Given the description of an element on the screen output the (x, y) to click on. 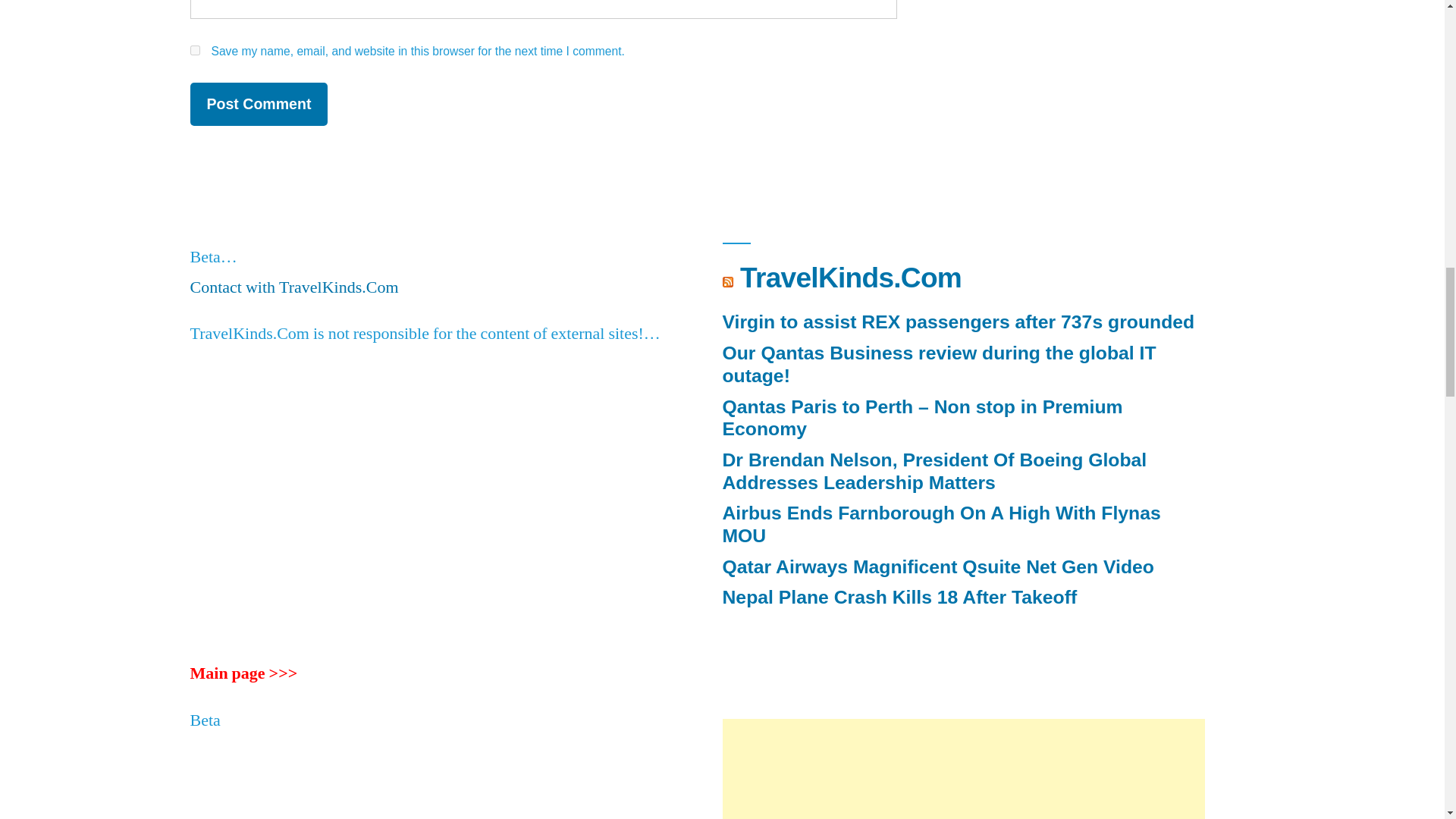
Post Comment (258, 104)
Nepal Plane Crash Kills 18 After Takeoff (899, 597)
Qatar Airways Magnificent Qsuite Net Gen Video (937, 566)
Airbus Ends Farnborough On A High With Flynas MOU (941, 524)
Post Comment (258, 104)
Contact with TravelKinds.Com (293, 286)
Our Qantas Business review during the global IT outage! (939, 364)
yes (194, 50)
TravelKinds.Com (849, 277)
Virgin to assist REX passengers after 737s grounded (957, 322)
